Given the description of an element on the screen output the (x, y) to click on. 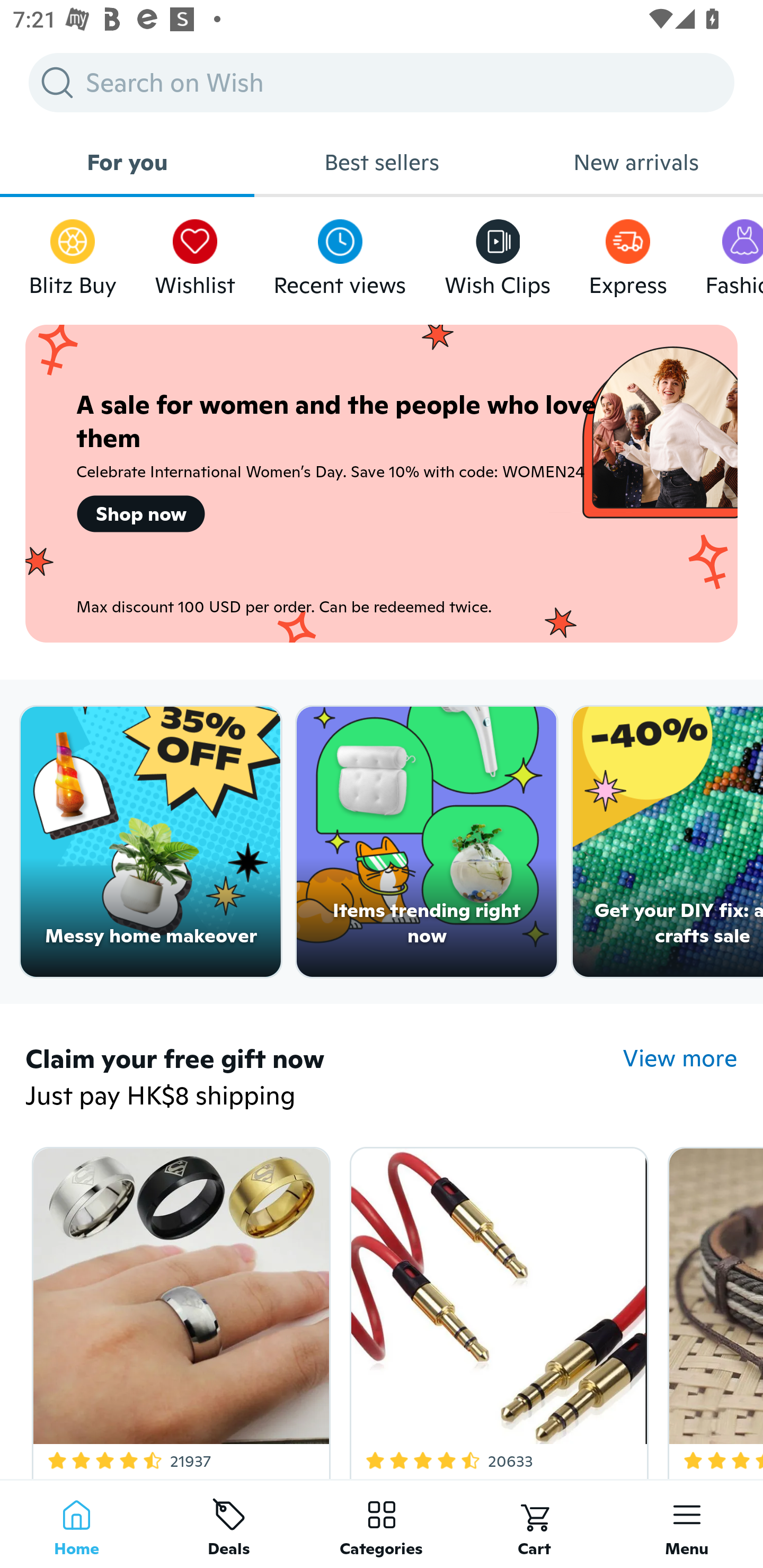
Search on Wish (381, 82)
For you (127, 161)
Best sellers (381, 161)
New arrivals (635, 161)
Blitz Buy (72, 252)
Wishlist (194, 252)
Recent views (339, 252)
Wish Clips (497, 252)
Express (627, 252)
Fashion (734, 252)
Messy home makeover (150, 841)
Items trending right now (426, 841)
Get your DIY fix: arts & crafts sale (668, 841)
Claim your free gift now
Just pay HK$8 shipping (323, 1078)
View more (679, 1058)
4.3 Star Rating 21937 Free (177, 1308)
4.3 Star Rating 20633 Free (495, 1308)
Home (76, 1523)
Deals (228, 1523)
Categories (381, 1523)
Cart (533, 1523)
Menu (686, 1523)
